Given the description of an element on the screen output the (x, y) to click on. 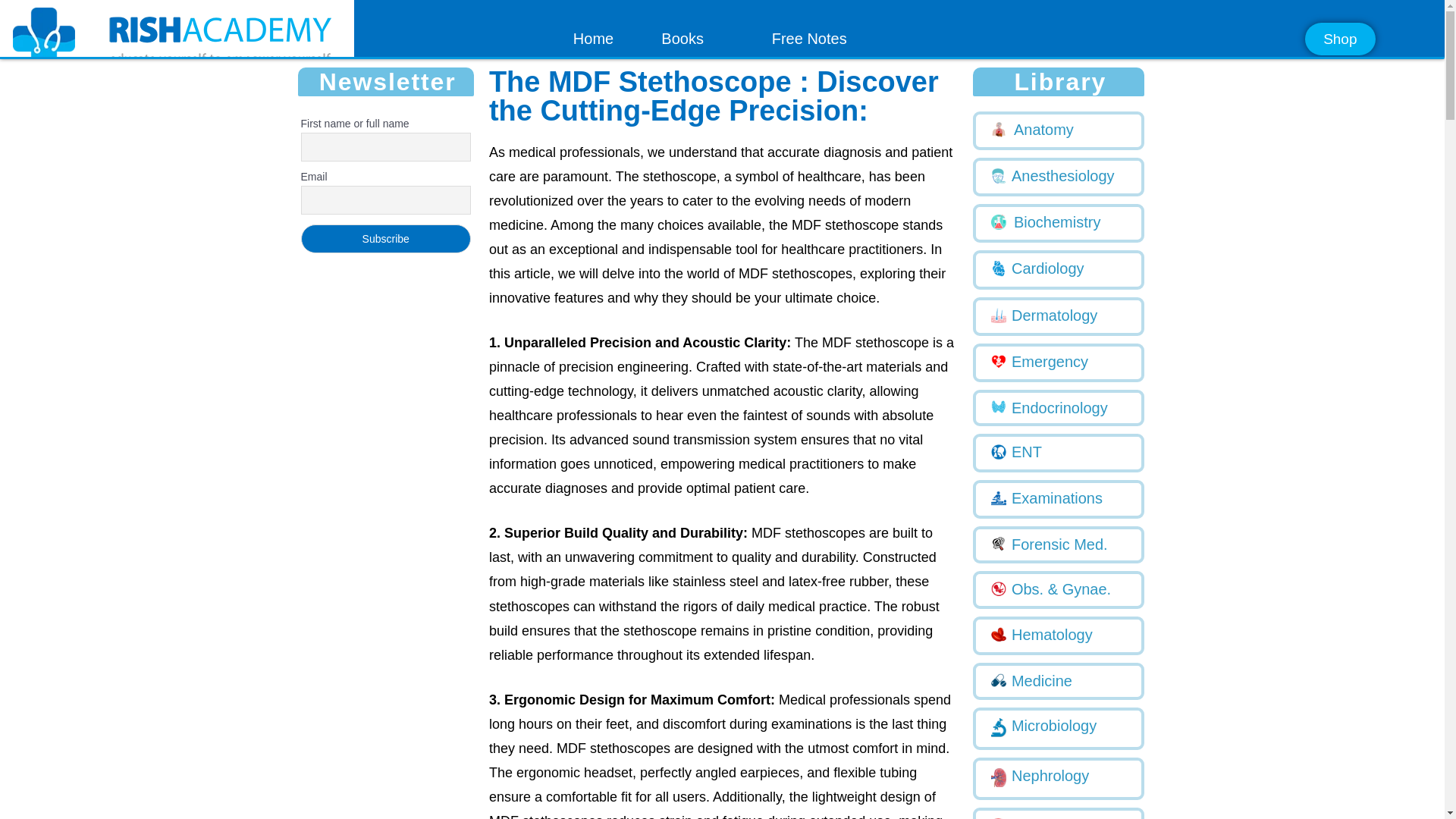
Books (682, 38)
Free Notes (809, 38)
Shop (1339, 38)
Subscribe (384, 238)
Subscribe (384, 238)
Home (592, 38)
